Given the description of an element on the screen output the (x, y) to click on. 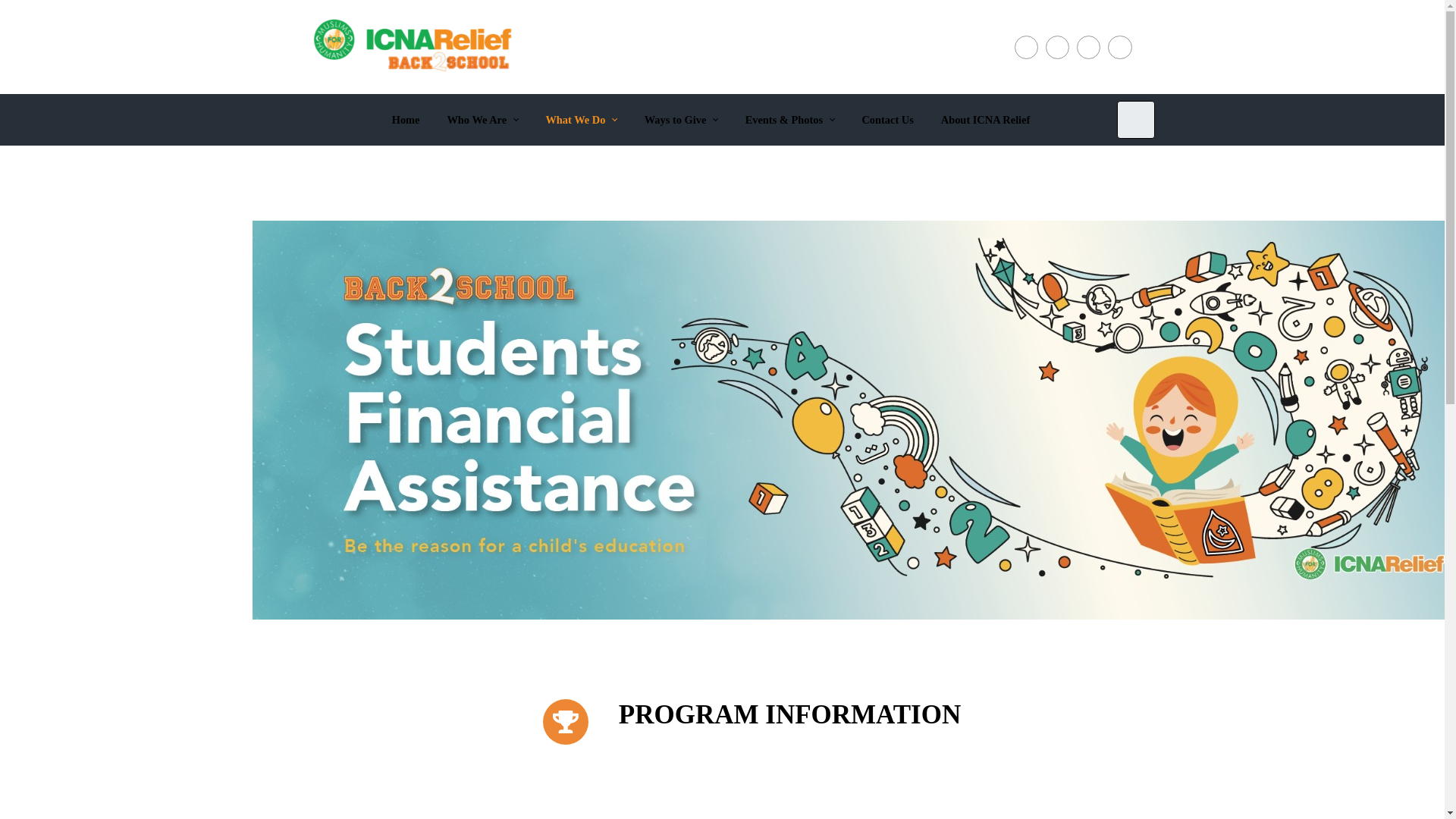
What We Do (580, 119)
Home (405, 119)
Who We Are (482, 119)
